Given the description of an element on the screen output the (x, y) to click on. 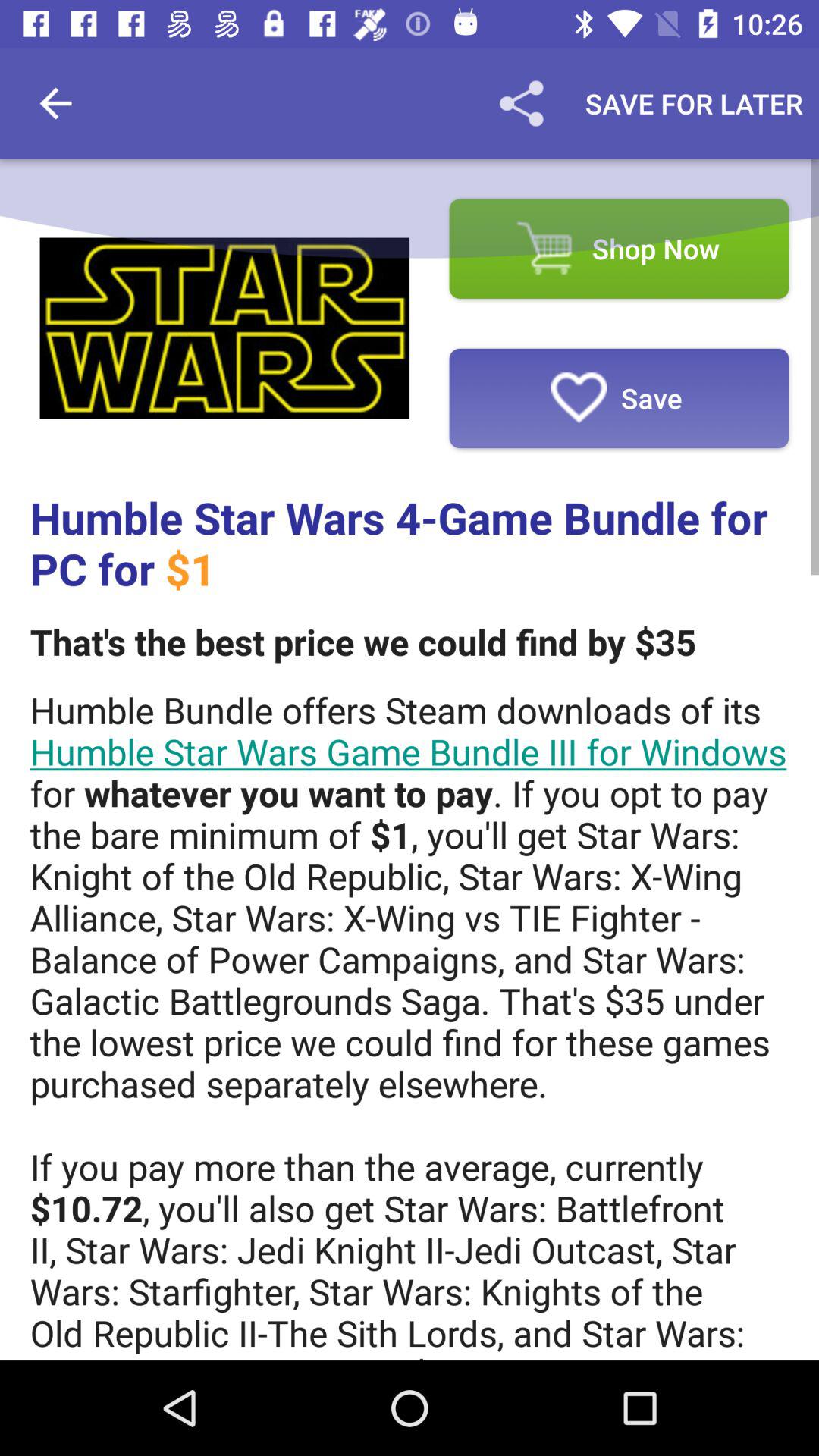
turn on the save for later (694, 103)
